Given the description of an element on the screen output the (x, y) to click on. 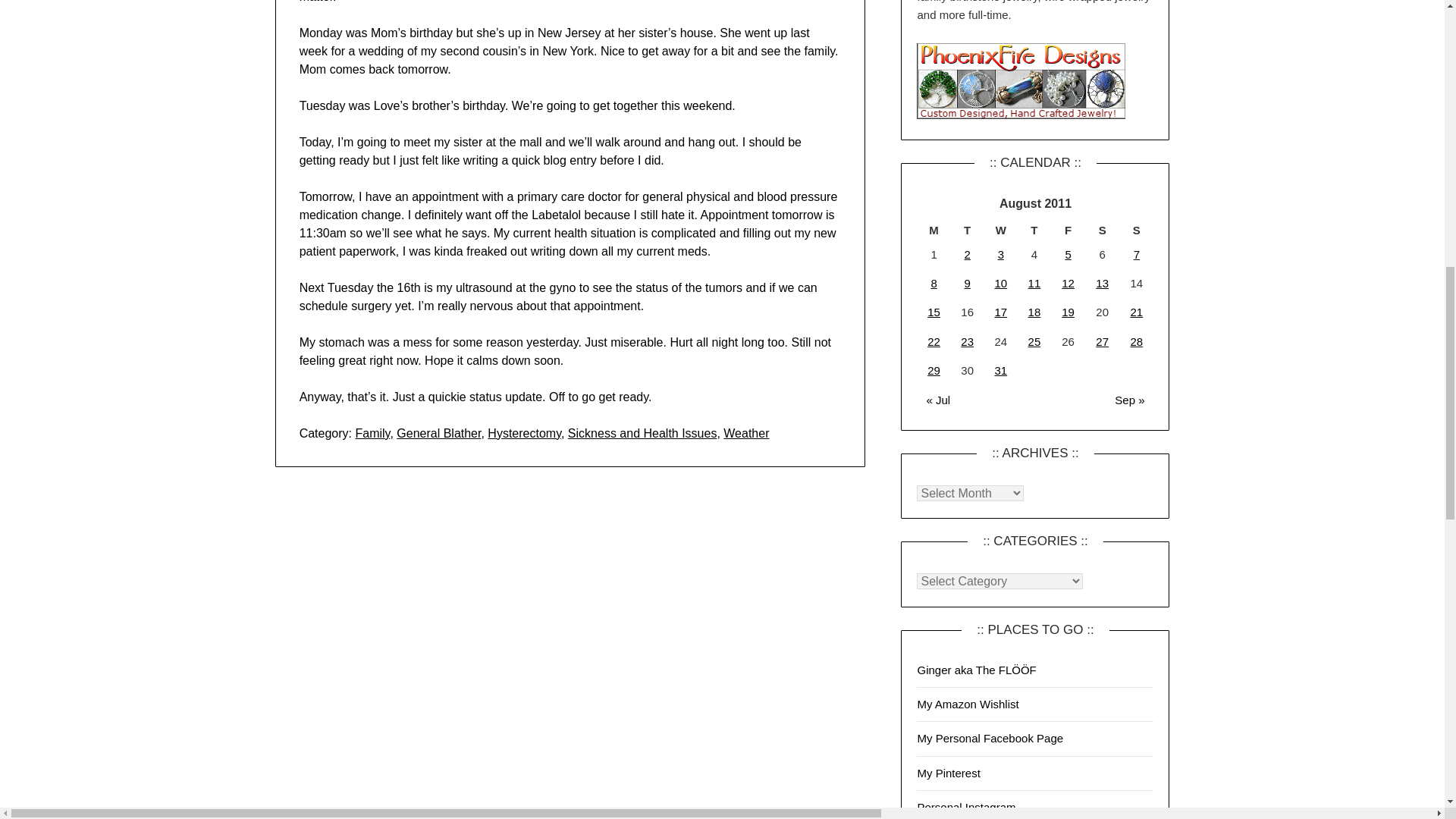
Saturday (1101, 230)
My personal facebook page (989, 738)
23 (967, 341)
Thursday (1034, 230)
Tuesday (967, 230)
15 (933, 311)
Weather (745, 432)
Family (372, 432)
Sickness and Health Issues (642, 432)
Monday (933, 230)
